Given the description of an element on the screen output the (x, y) to click on. 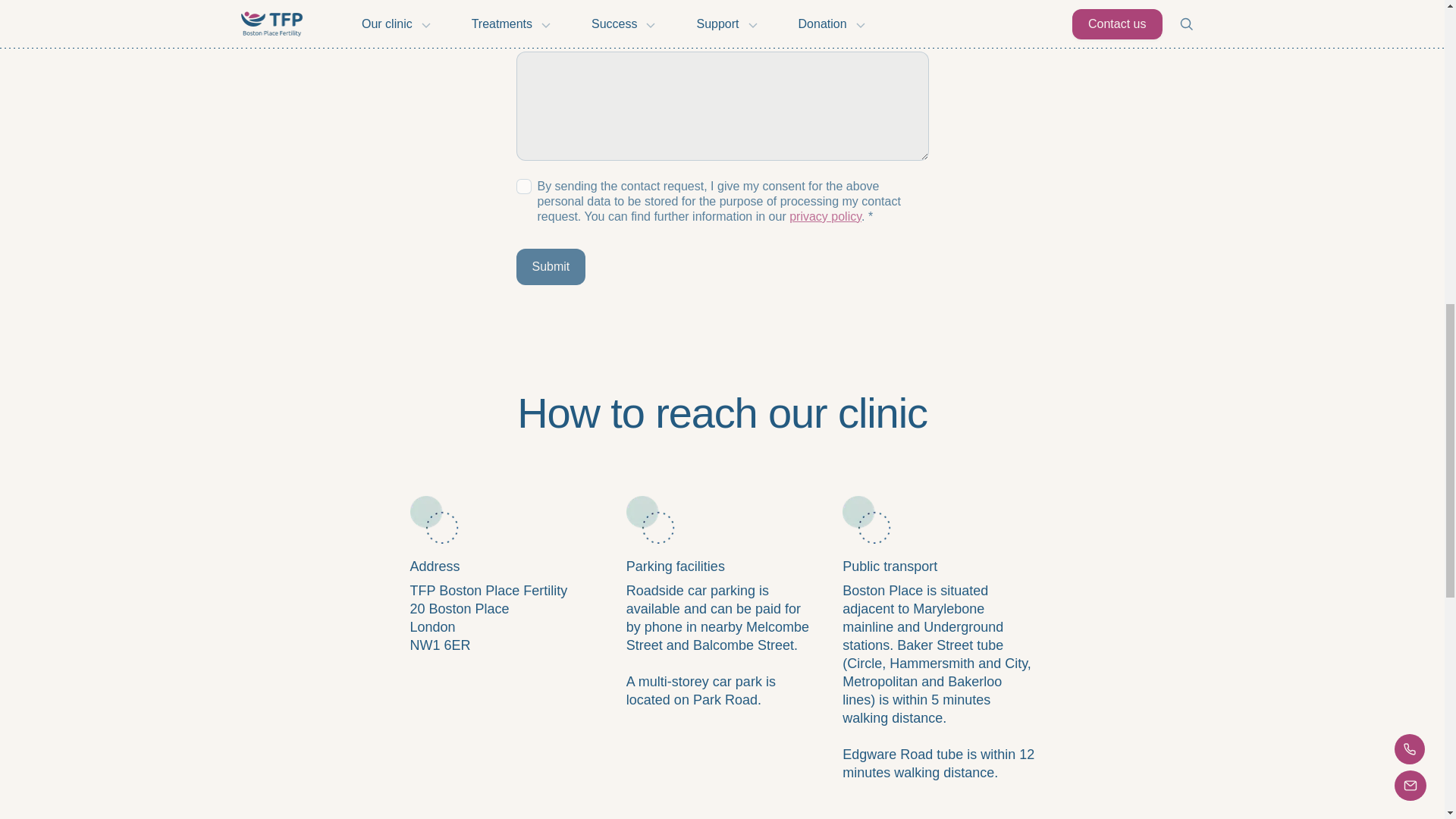
Submit (550, 266)
privacy policy (825, 215)
